Given the description of an element on the screen output the (x, y) to click on. 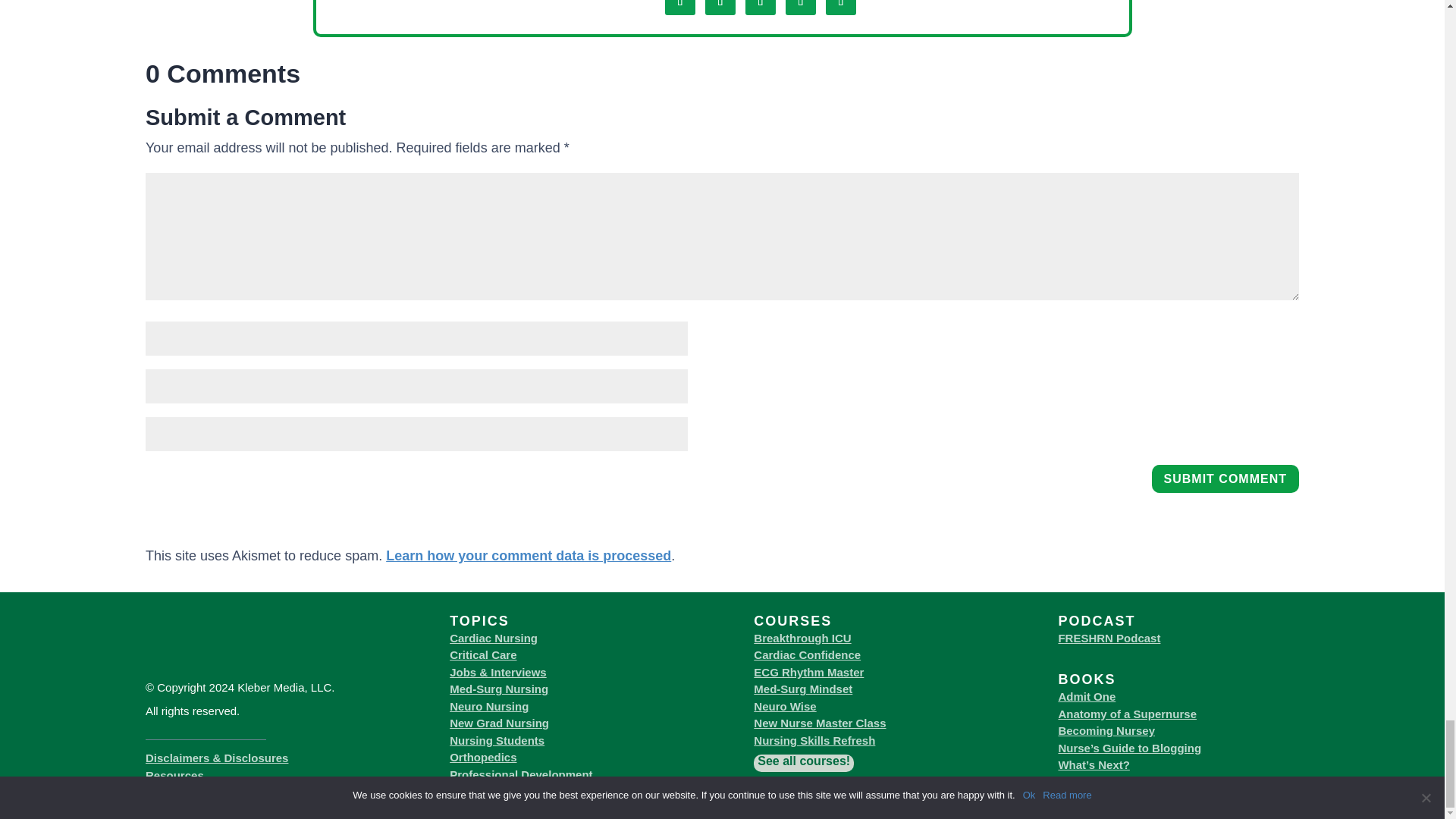
Follow on TikTok (800, 7)
FRESHRN Logo White (250, 671)
Kati Kleber, MSN, RN (502, 2)
Follow on Facebook (680, 7)
Follow on Instagram (719, 7)
Follow on Pinterest (840, 7)
Follow on Youtube (760, 7)
